Given the description of an element on the screen output the (x, y) to click on. 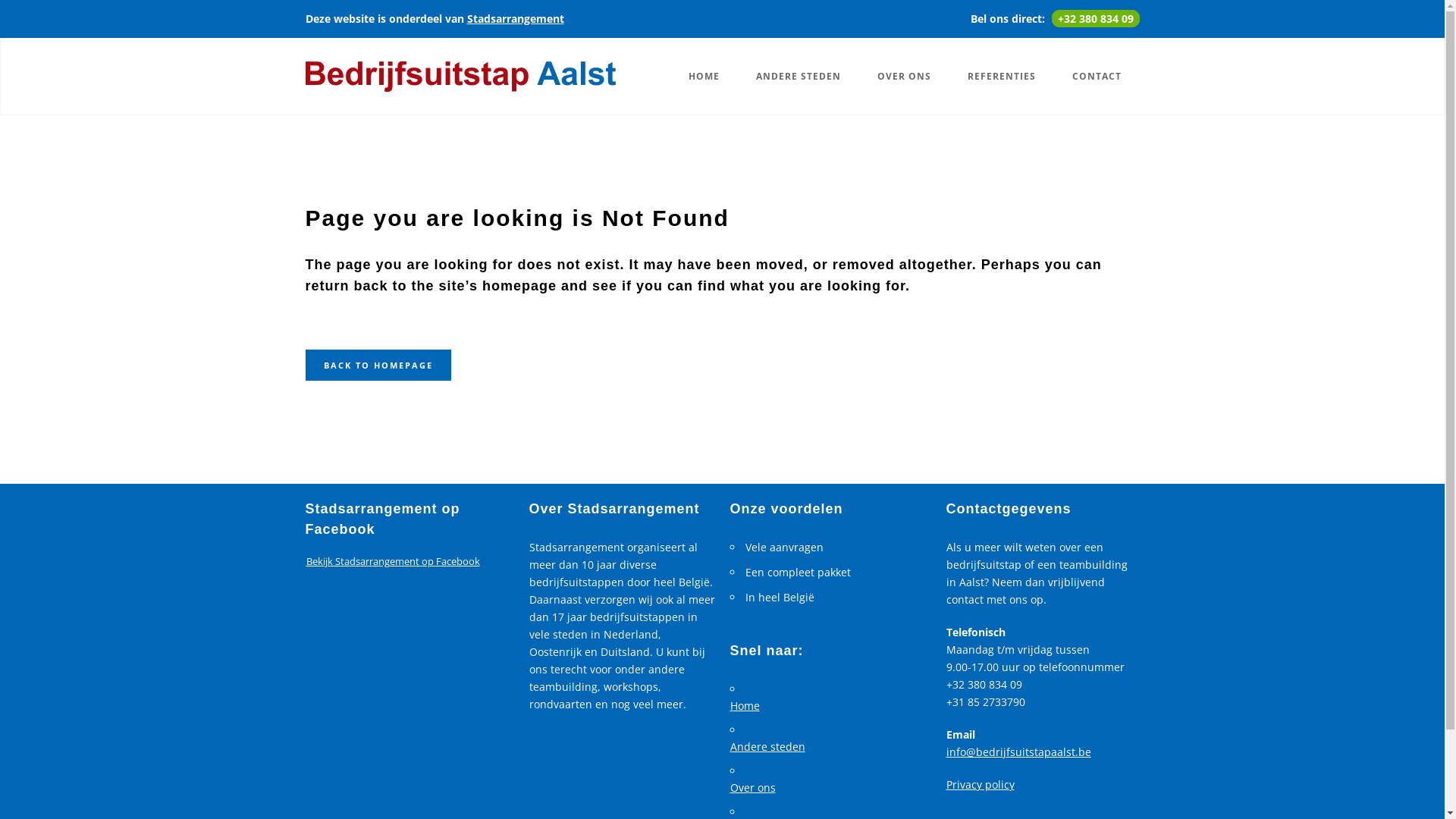
Home Element type: text (827, 705)
Privacy policy Element type: text (980, 784)
Andere steden Element type: text (827, 746)
+32 380 834 09 Element type: text (1095, 18)
REFERENTIES Element type: text (1001, 76)
OVER ONS Element type: text (903, 76)
info@bedrijfsuitstapaalst.be Element type: text (1018, 751)
HOME Element type: text (703, 76)
BACK TO HOMEPAGE Element type: text (377, 364)
Stadsarrangement Element type: text (515, 18)
Bekijk Stadsarrangement op Facebook Element type: text (393, 560)
Over ons Element type: text (827, 787)
CONTACT Element type: text (1096, 76)
ANDERE STEDEN Element type: text (797, 76)
